Given the description of an element on the screen output the (x, y) to click on. 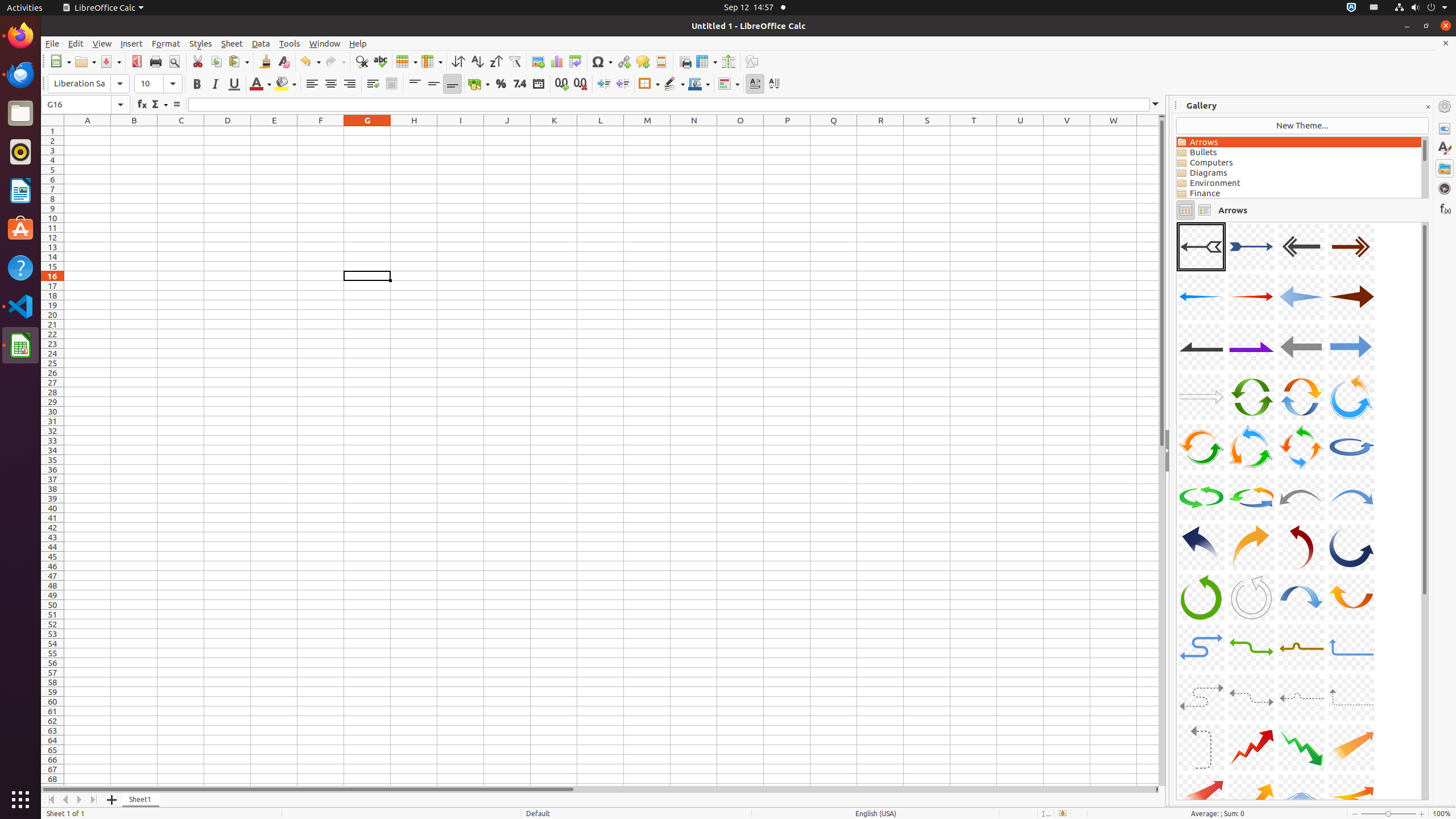
A1 Element type: table-cell (87, 130)
Computers Element type: list-item (1298, 162)
A27-CurvedArrow-DarkRed Element type: list-item (1300, 546)
Align Bottom Element type: push-button (452, 83)
Detailed View Element type: toggle-button (1203, 210)
